Given the description of an element on the screen output the (x, y) to click on. 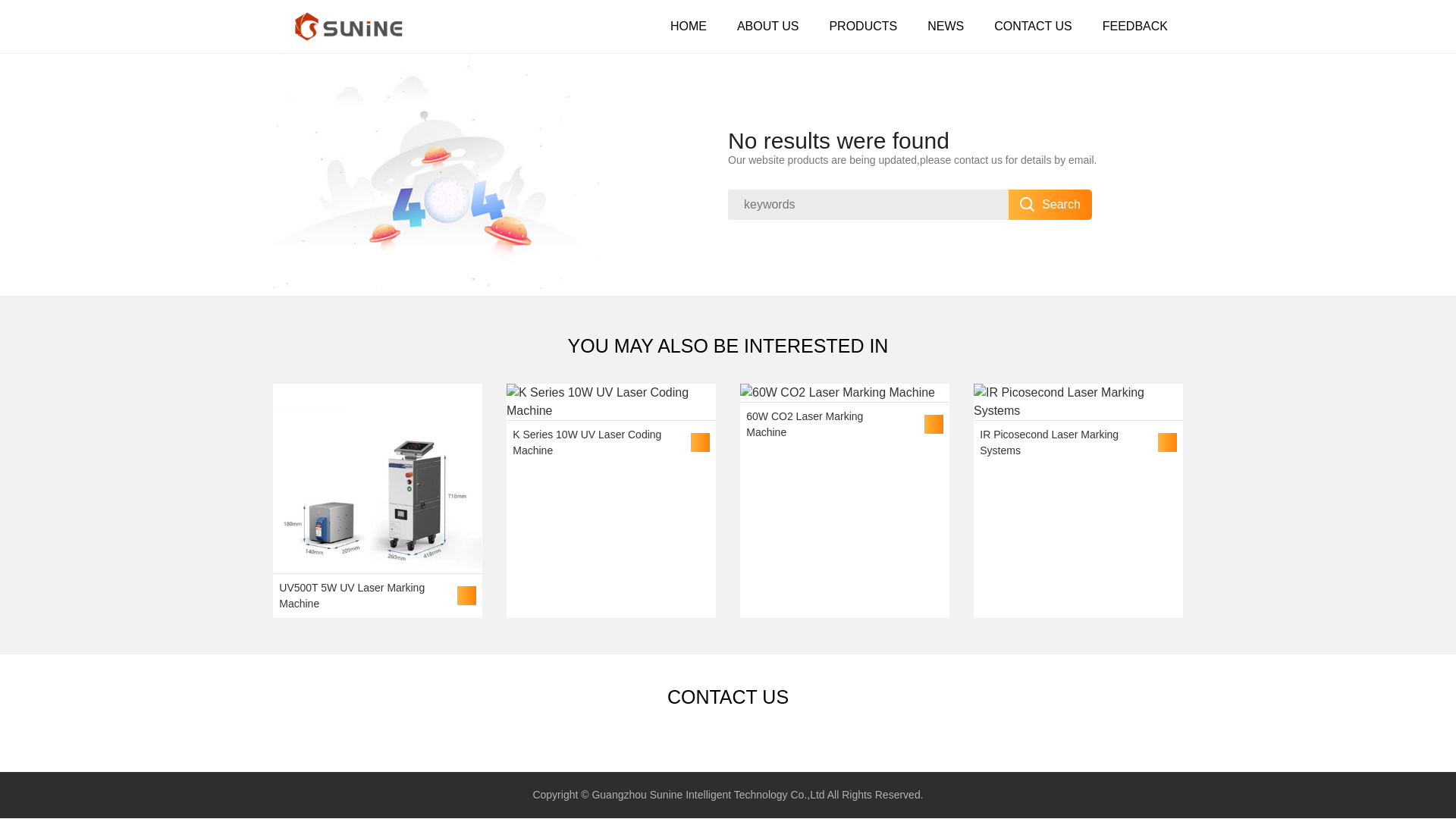
IR Picosecond Laser Marking Systems (1078, 425)
FEEDBACK (1134, 26)
K Series 10W UV Laser Coding Machine (611, 425)
ABOUT US (767, 26)
HOME (688, 26)
CONTACT US (1032, 26)
NEWS (945, 26)
UV500T 5W UV Laser Marking Machine (377, 501)
Search (1050, 204)
PRODUCTS (862, 26)
